Given the description of an element on the screen output the (x, y) to click on. 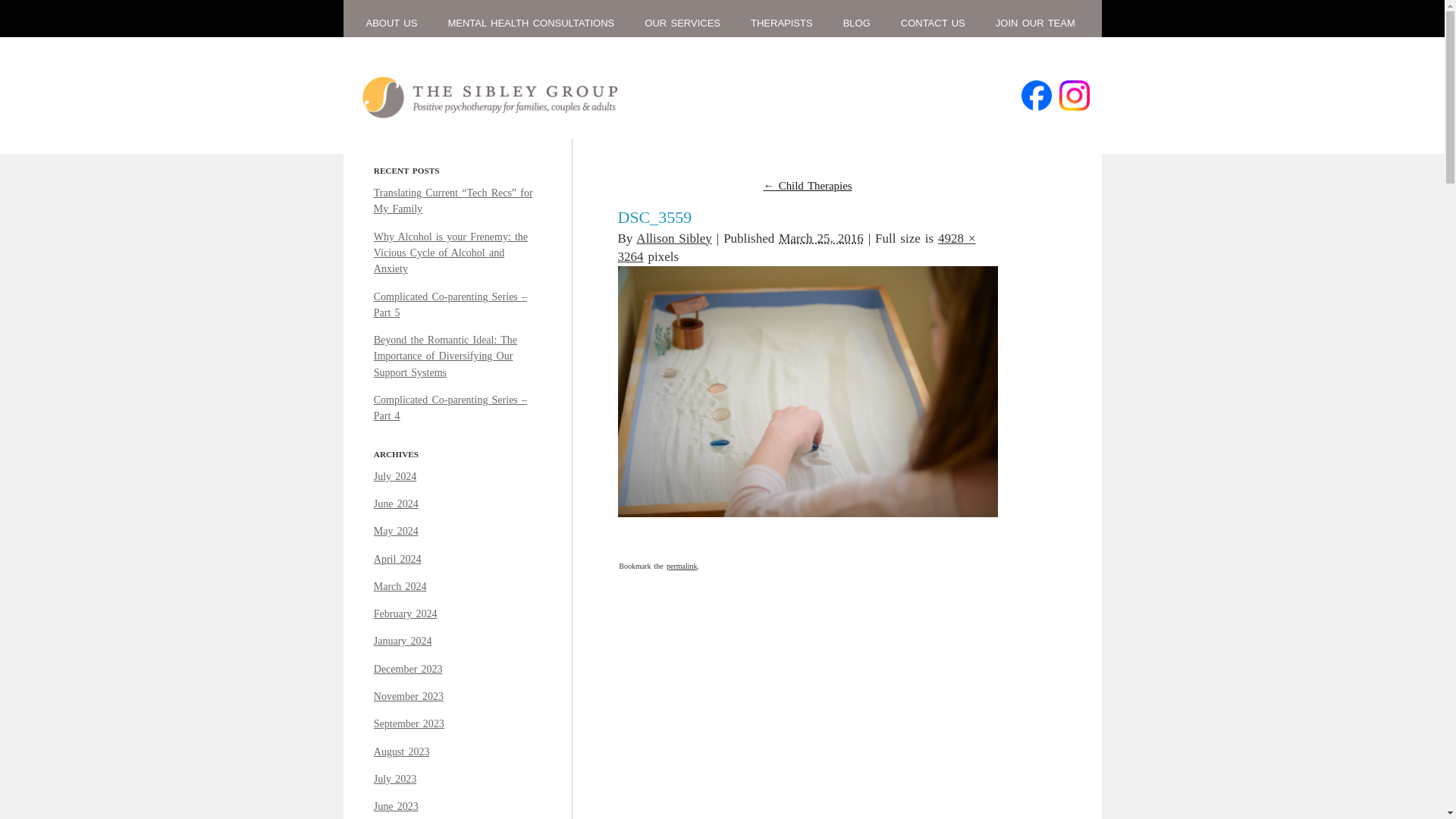
BLOG (856, 23)
THERAPISTS (781, 23)
CONTACT US (932, 23)
Return to Child Therapies (806, 185)
Link to full-size image (796, 246)
MENTAL HEALTH CONSULTATIONS (530, 23)
OUR SERVICES (681, 23)
1:49 pm (820, 237)
ABOUT US (391, 23)
View all posts by Allison Sibley (673, 237)
